Given the description of an element on the screen output the (x, y) to click on. 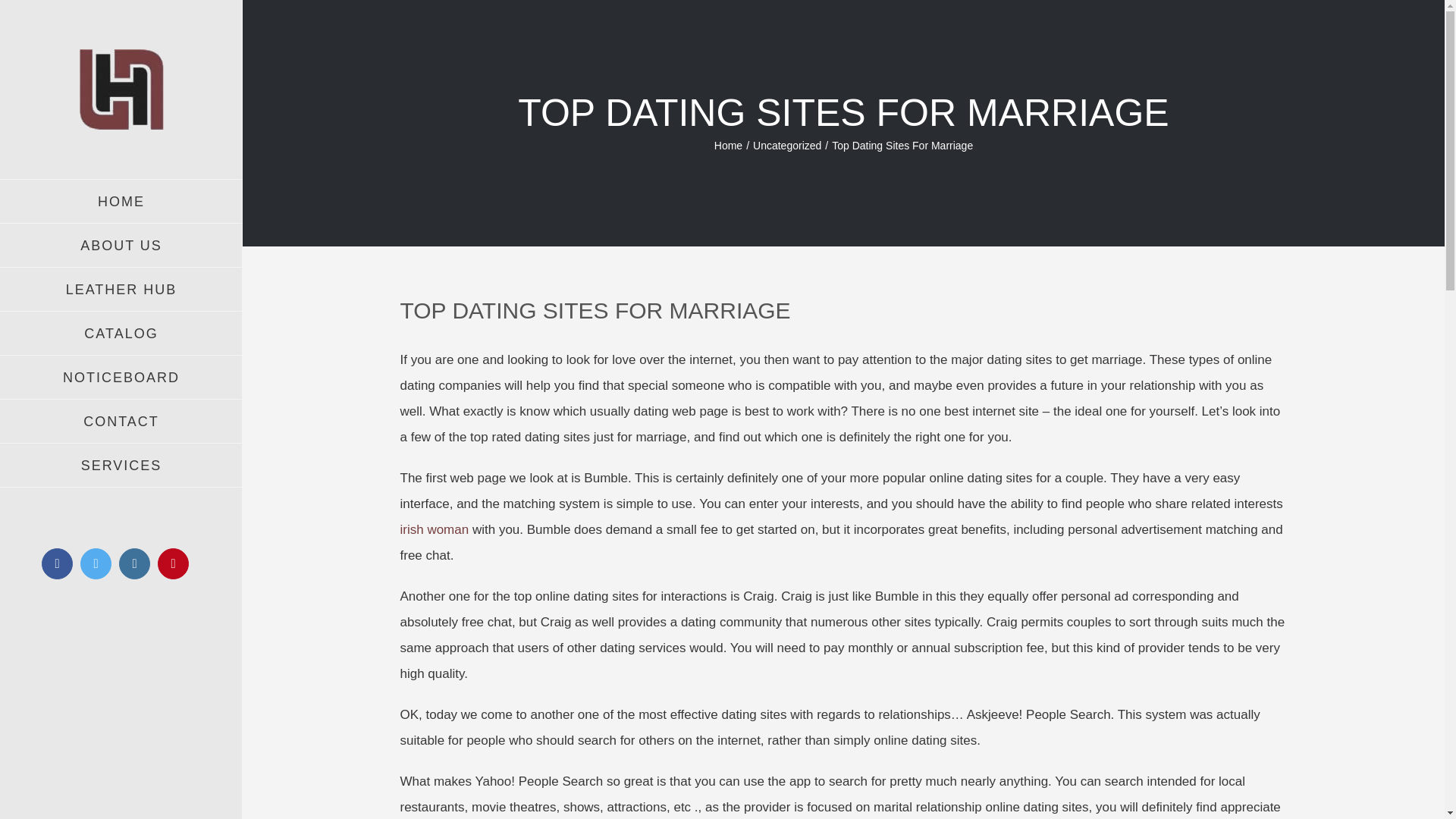
Facebook (57, 563)
HOME (121, 201)
CONTACT (121, 421)
Instagram (134, 563)
LEATHER HUB (121, 289)
SERVICES (121, 465)
Pinterest (173, 563)
Instagram (134, 563)
irish woman (434, 529)
Home (728, 145)
